Given the description of an element on the screen output the (x, y) to click on. 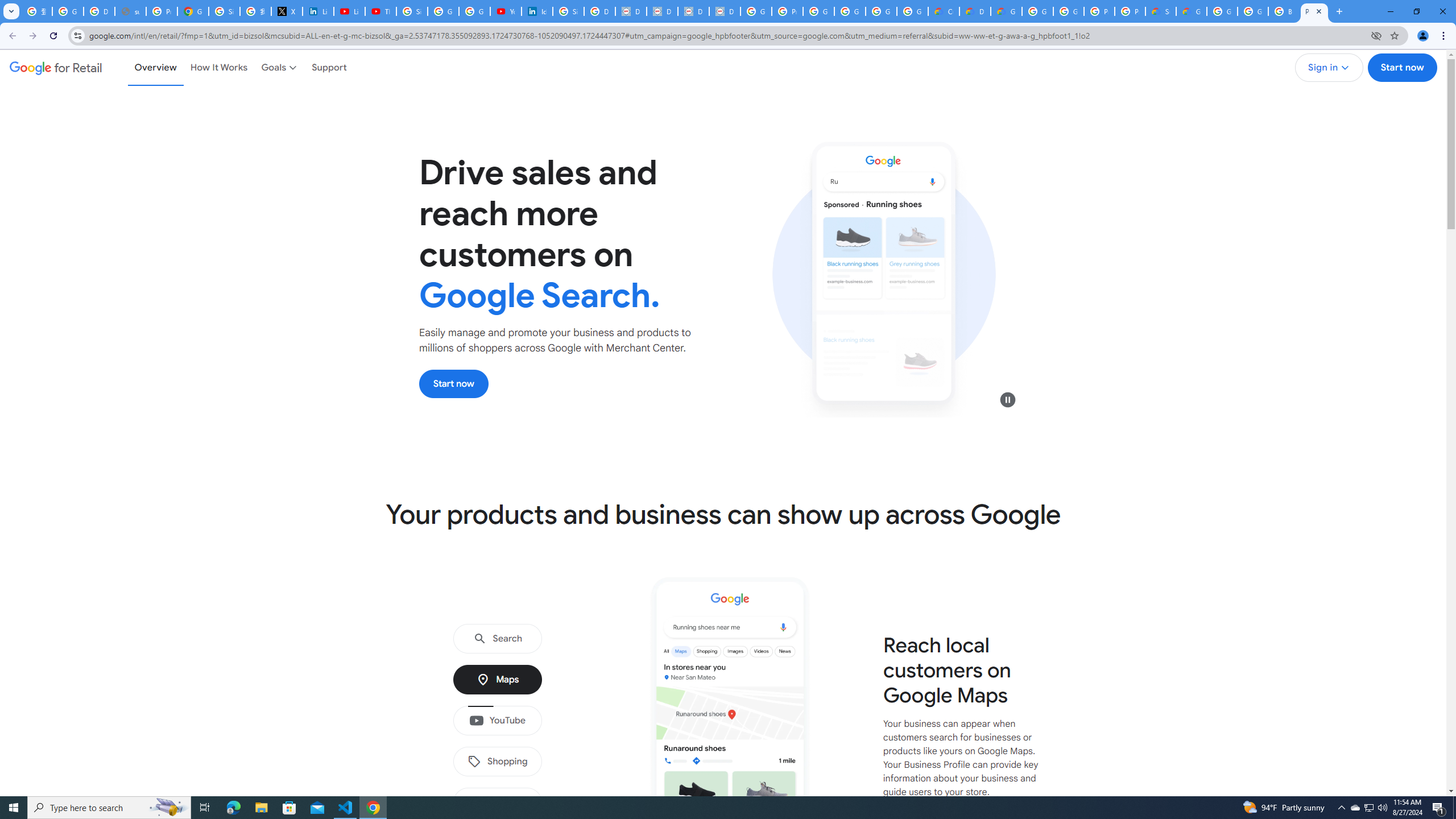
Google Cloud Platform (1068, 11)
Google Cloud Service Health (1190, 11)
Maps (496, 680)
Data Privacy Framework (724, 11)
Goals (279, 67)
Support Hub | Google Cloud (1160, 11)
